Given the description of an element on the screen output the (x, y) to click on. 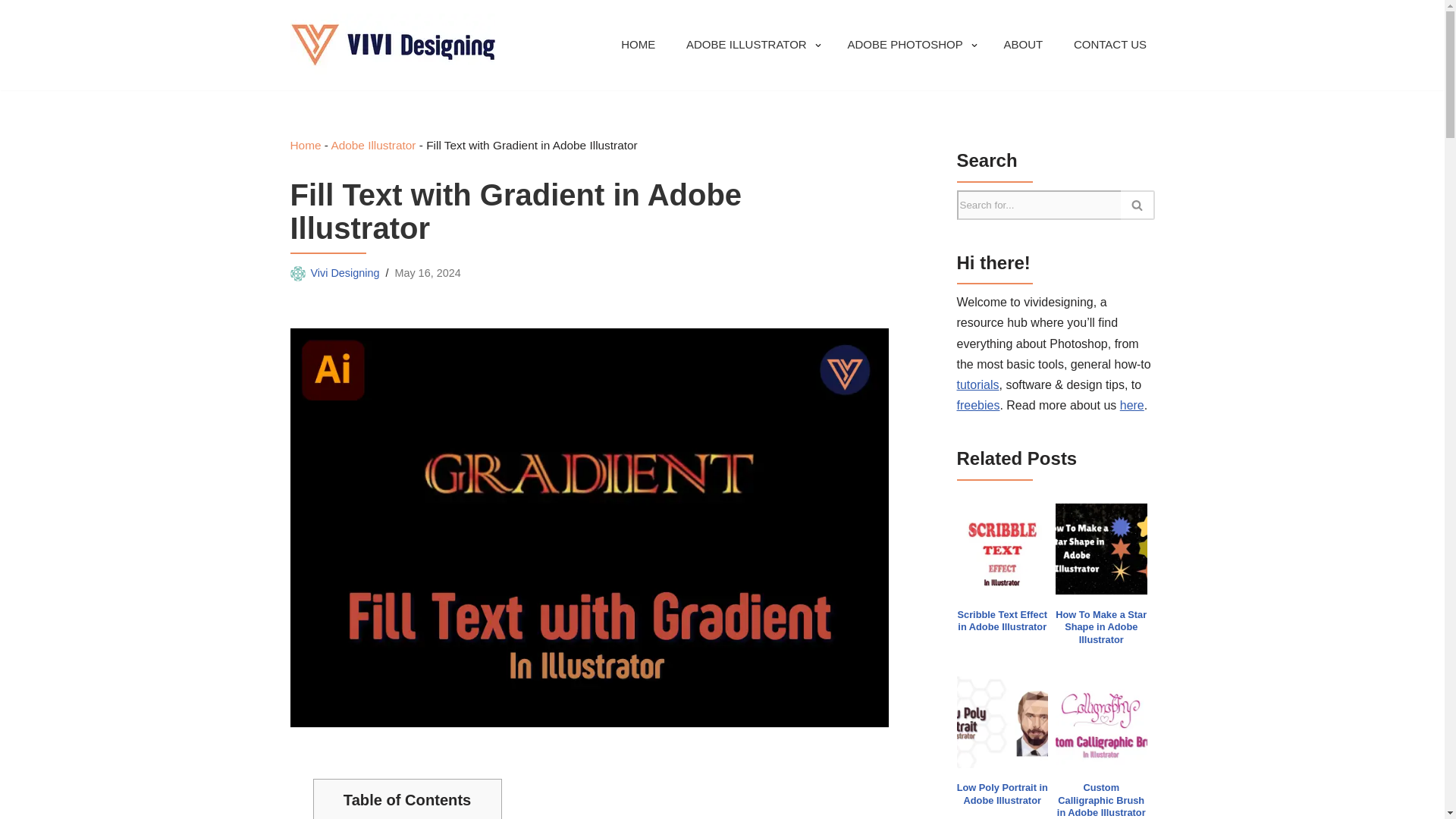
ADOBE ILLUSTRATOR (745, 45)
HOME (638, 45)
Skip to content (11, 31)
CONTACT US (1109, 45)
Vivi Designing (345, 272)
ADOBE PHOTOSHOP (905, 45)
ABOUT (1022, 45)
Adobe Illustrator (372, 144)
Posts by Vivi Designing (345, 272)
Home (304, 144)
